Given the description of an element on the screen output the (x, y) to click on. 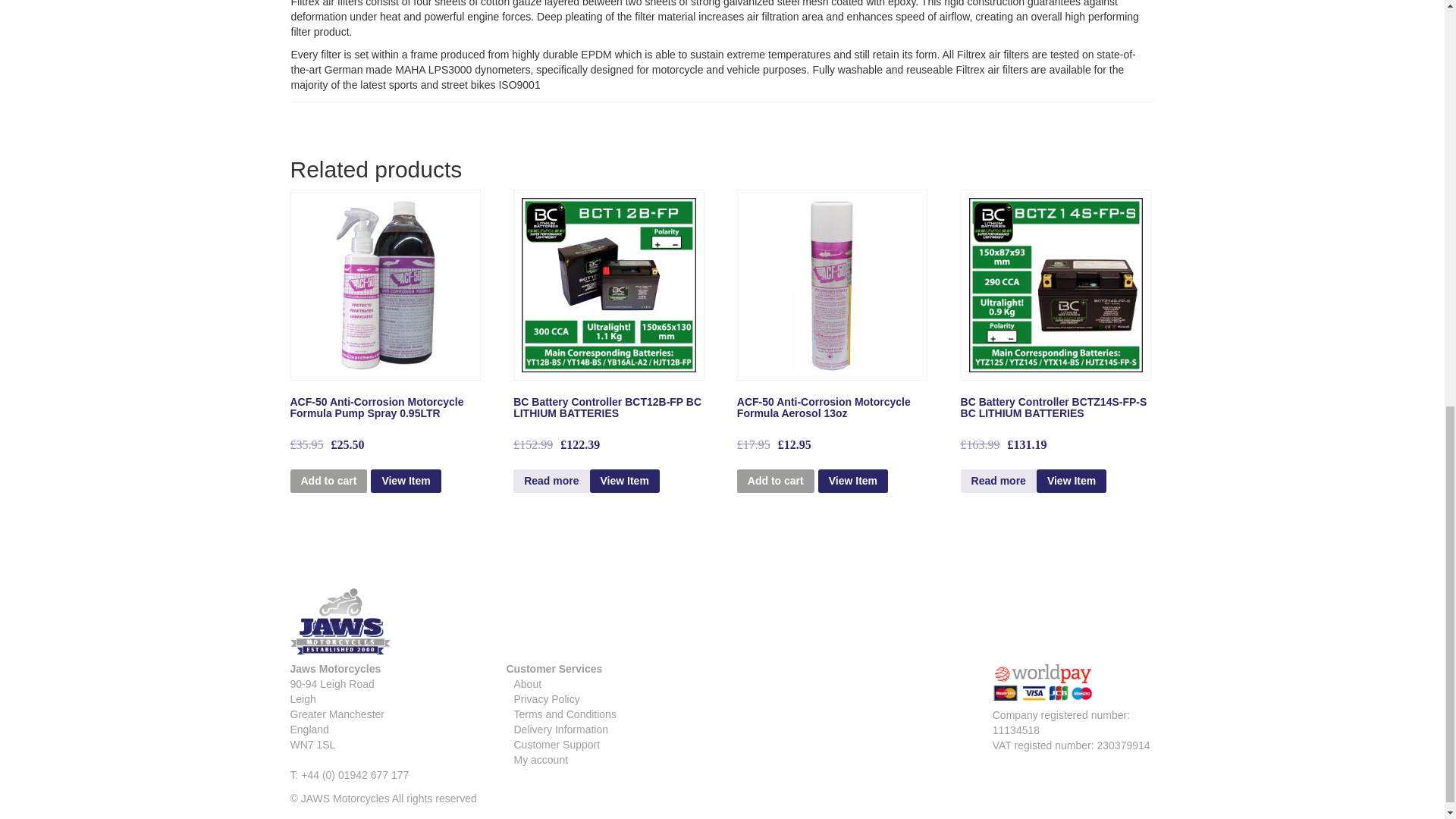
Read more (551, 481)
Add to cart (327, 481)
View Item (406, 481)
